Given the description of an element on the screen output the (x, y) to click on. 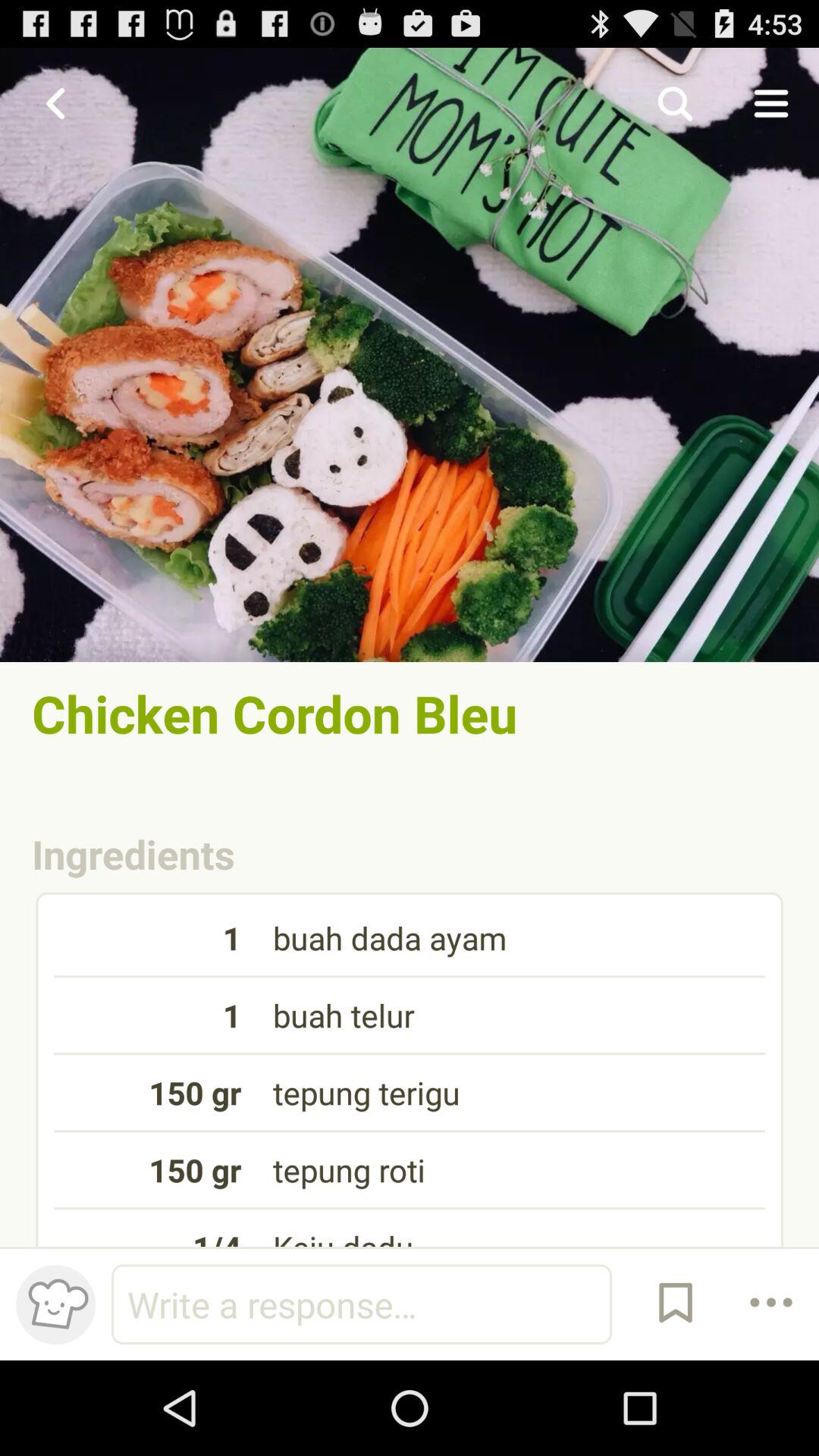
flip to chicken cordon bleu item (409, 712)
